Given the description of an element on the screen output the (x, y) to click on. 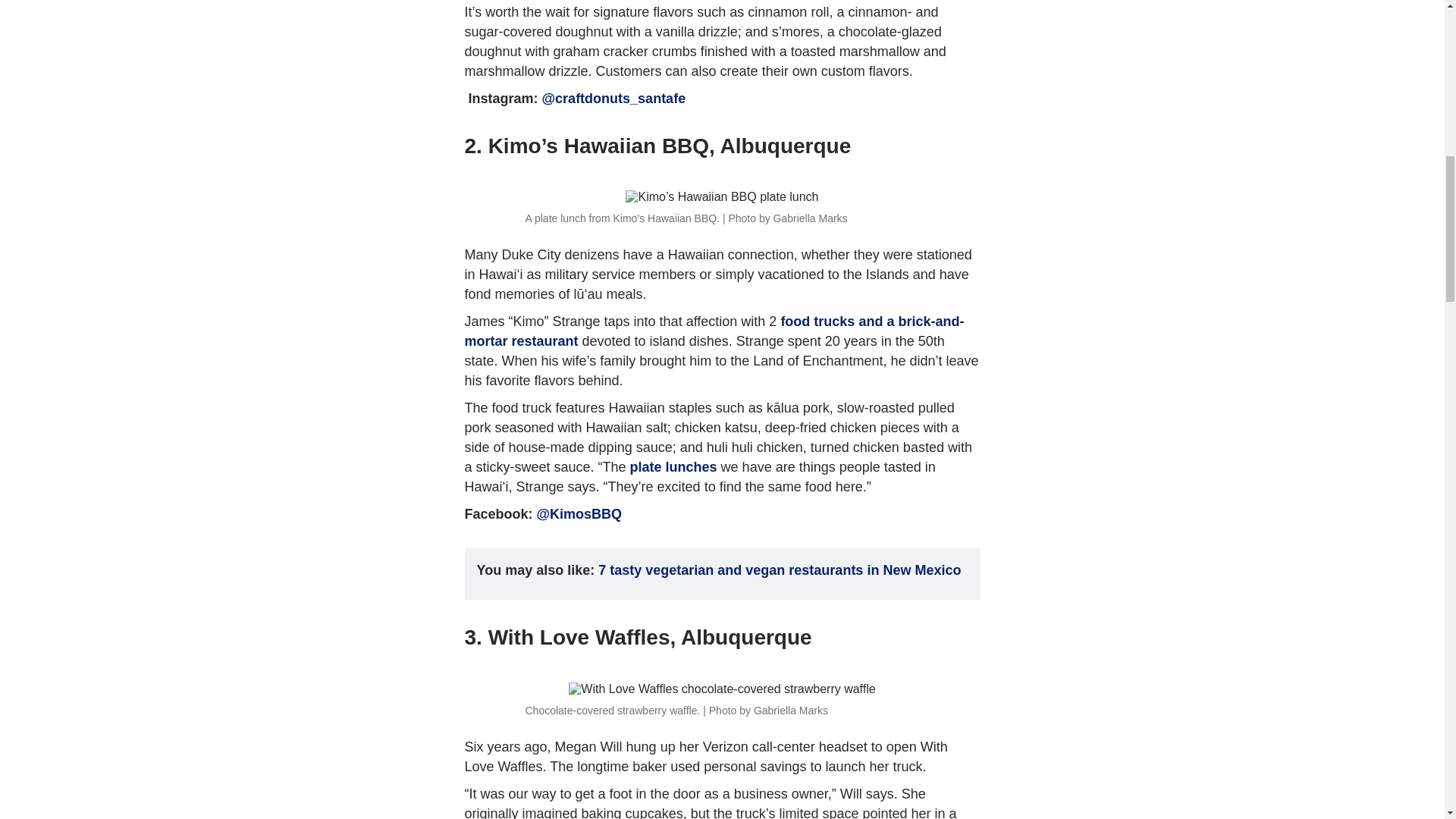
7 tasty vegetarian and vegan restaurants in New Mexico (779, 570)
Craft Donuts Santa Fe Instagram (613, 98)
Oahu Plate Lunches (673, 467)
Kimo's Hawaiian BBQ Facebook page (580, 513)
Kimo's Hawaiian BBQ (713, 330)
